Given the description of an element on the screen output the (x, y) to click on. 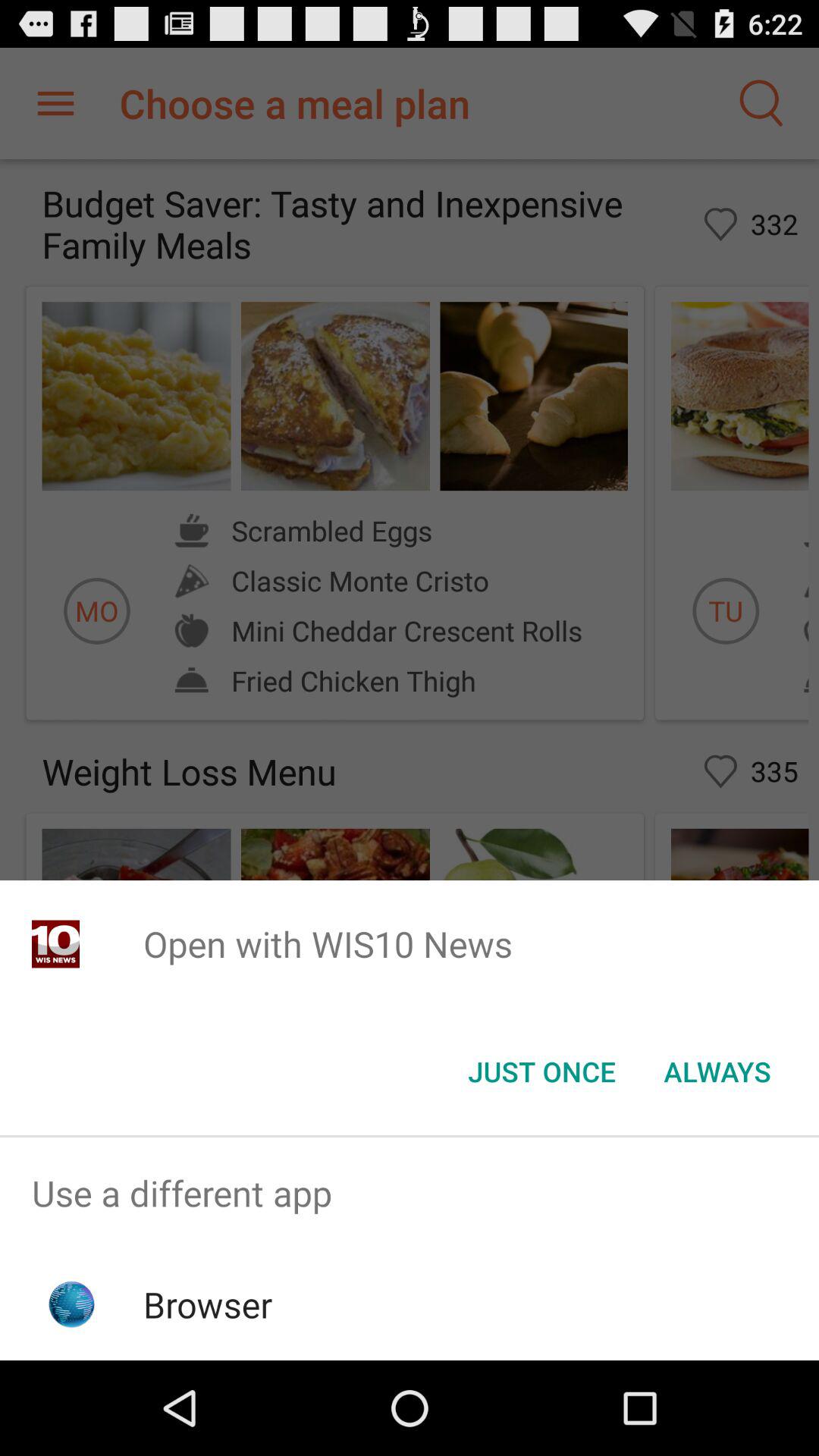
flip until the always (717, 1071)
